Given the description of an element on the screen output the (x, y) to click on. 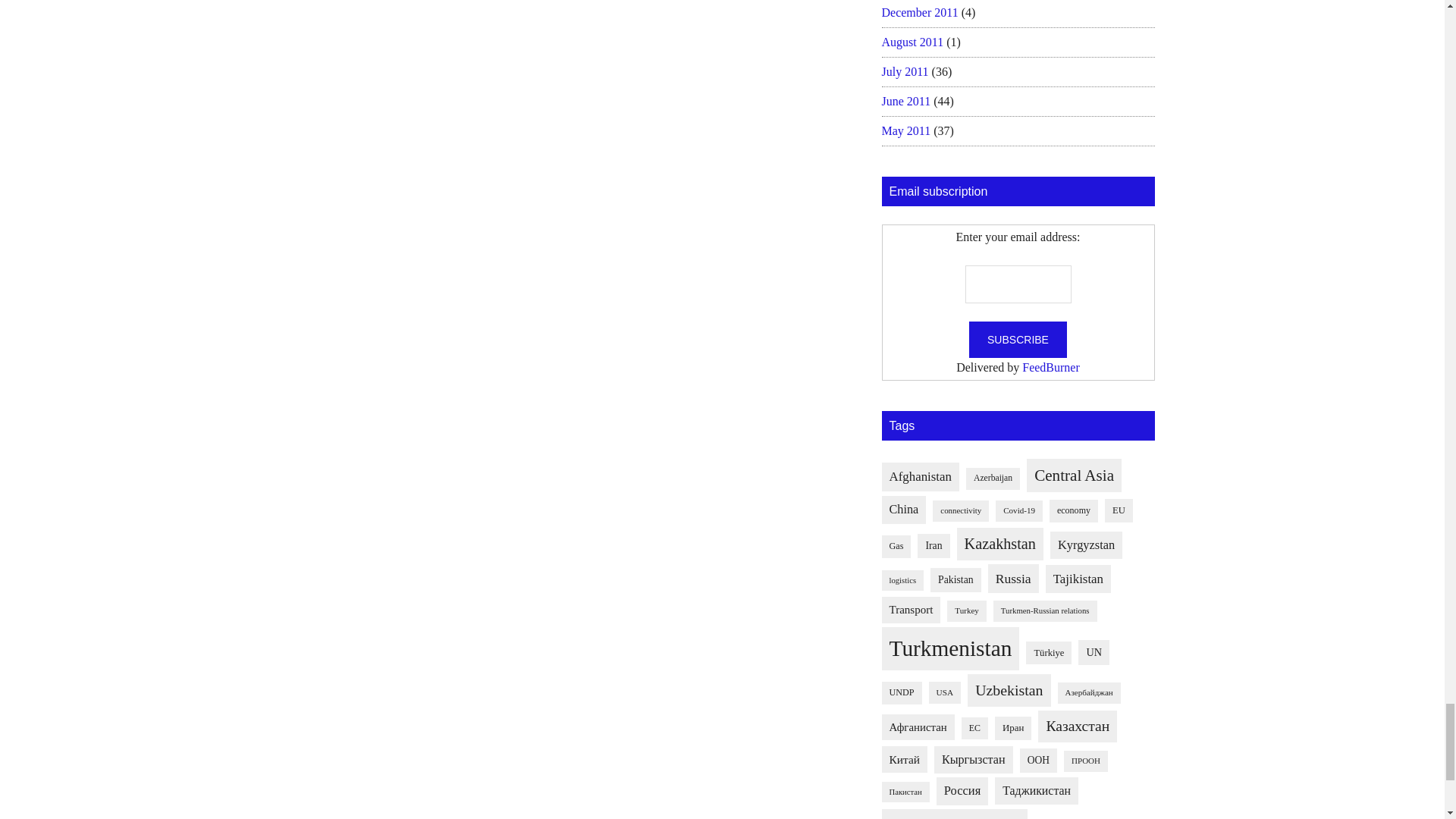
Subscribe (1018, 339)
